Given the description of an element on the screen output the (x, y) to click on. 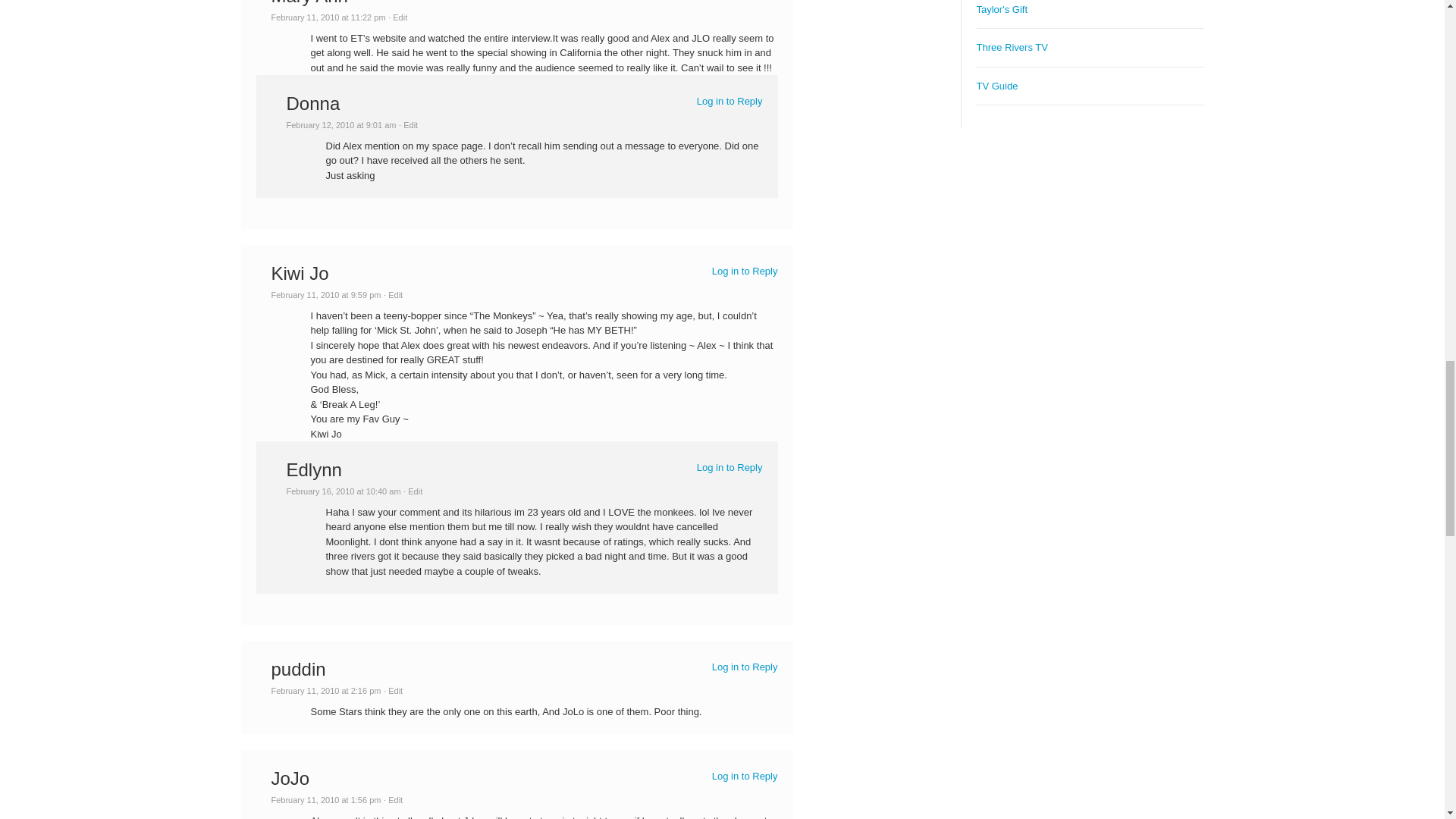
Edit Comment (393, 294)
Thursday, February 11, 2010, 9:59 pm (325, 294)
Tuesday, February 16, 2010, 10:40 am (343, 491)
Edit Comment (397, 17)
Thursday, February 11, 2010, 11:22 pm (327, 17)
Edit Comment (407, 124)
Friday, February 12, 2010, 9:01 am (341, 124)
